Given the description of an element on the screen output the (x, y) to click on. 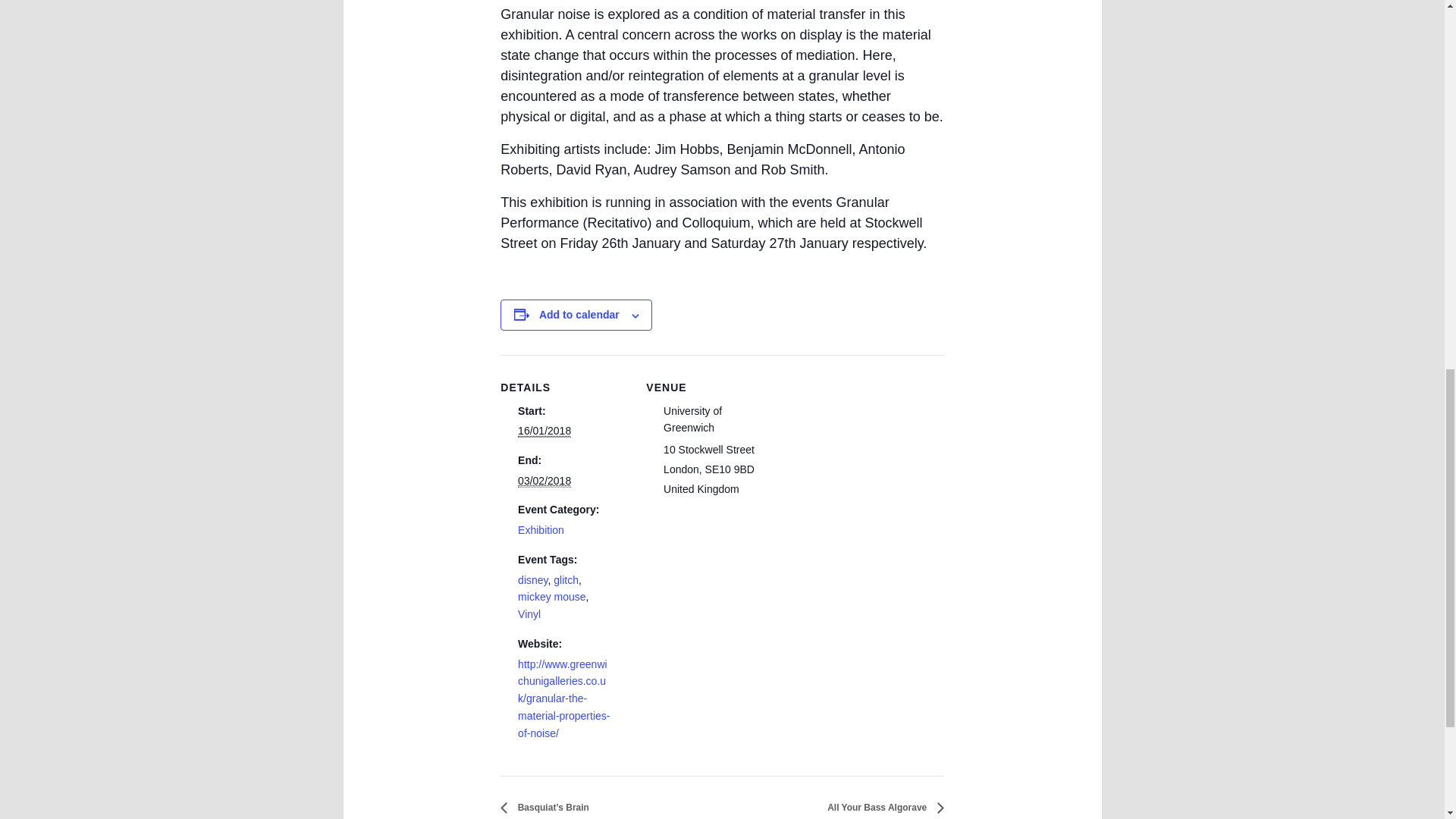
2018-01-16 (544, 431)
Vinyl (529, 613)
mickey mouse (551, 596)
Add to calendar (579, 314)
disney (532, 580)
All Your Bass Algorave (880, 807)
2018-02-03 (544, 481)
Exhibition (541, 530)
glitch (565, 580)
